Given the description of an element on the screen output the (x, y) to click on. 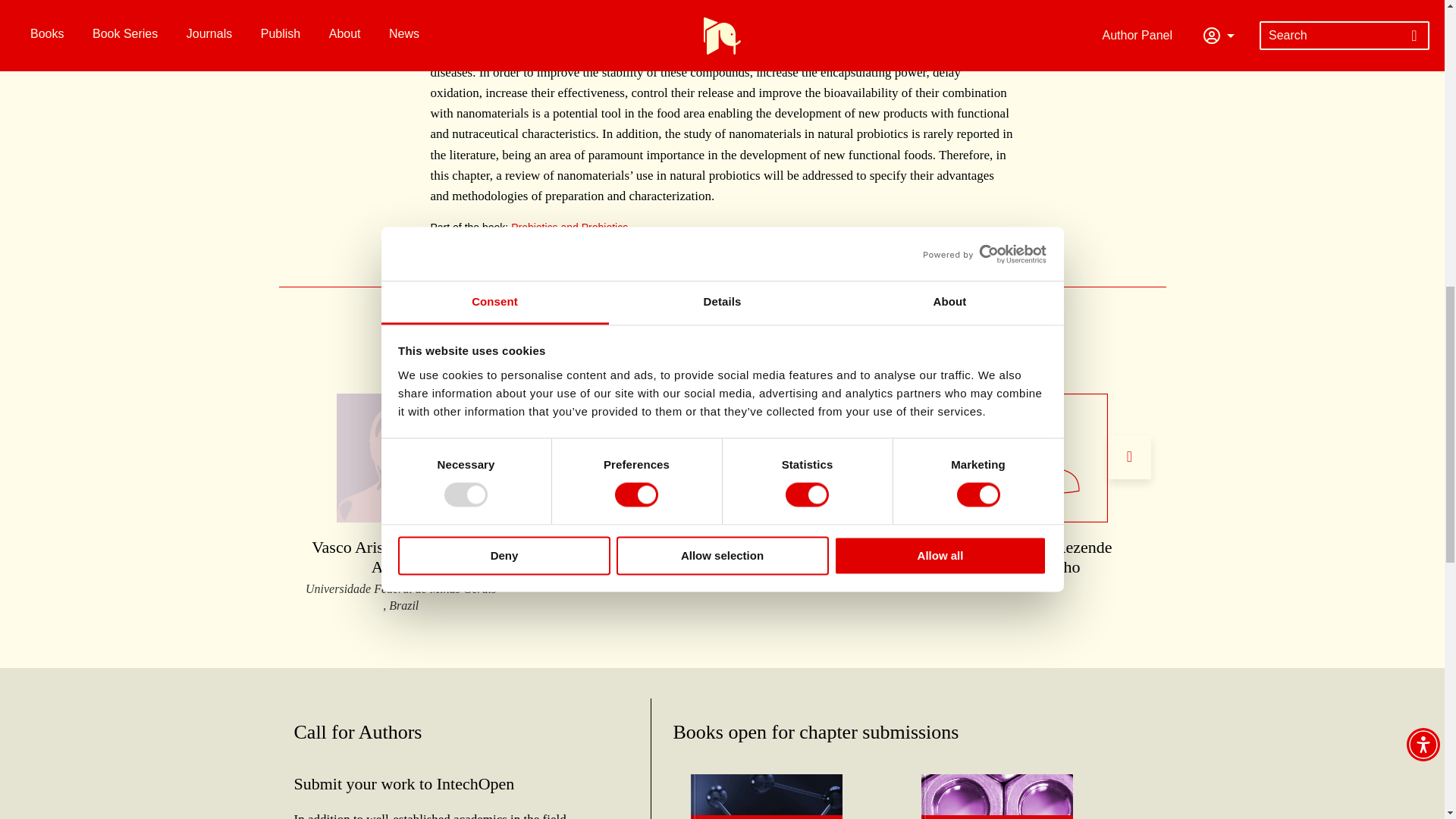
IntechOpen (766, 816)
IntechOpen (997, 816)
